Given the description of an element on the screen output the (x, y) to click on. 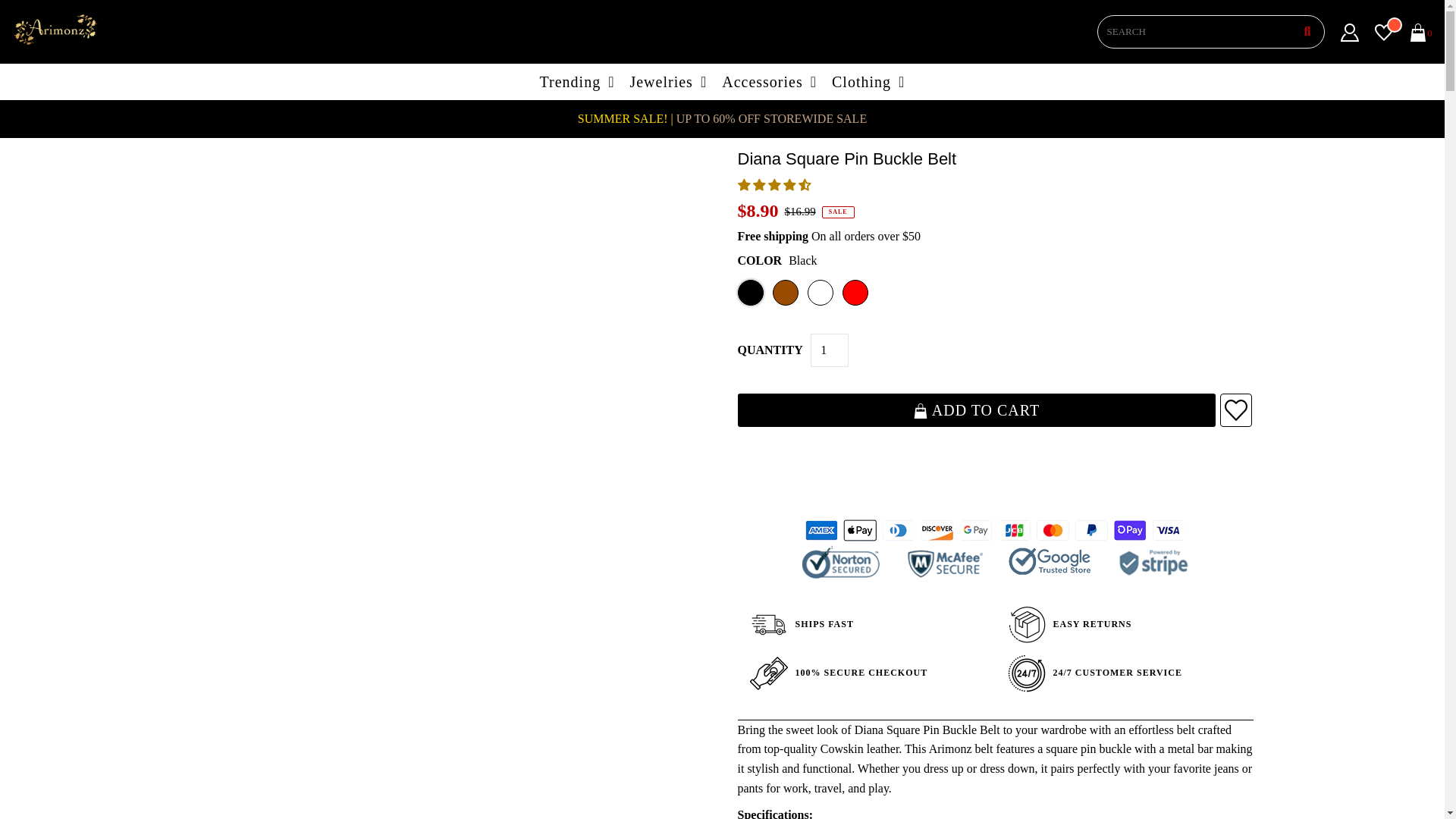
1 (829, 349)
